Given the description of an element on the screen output the (x, y) to click on. 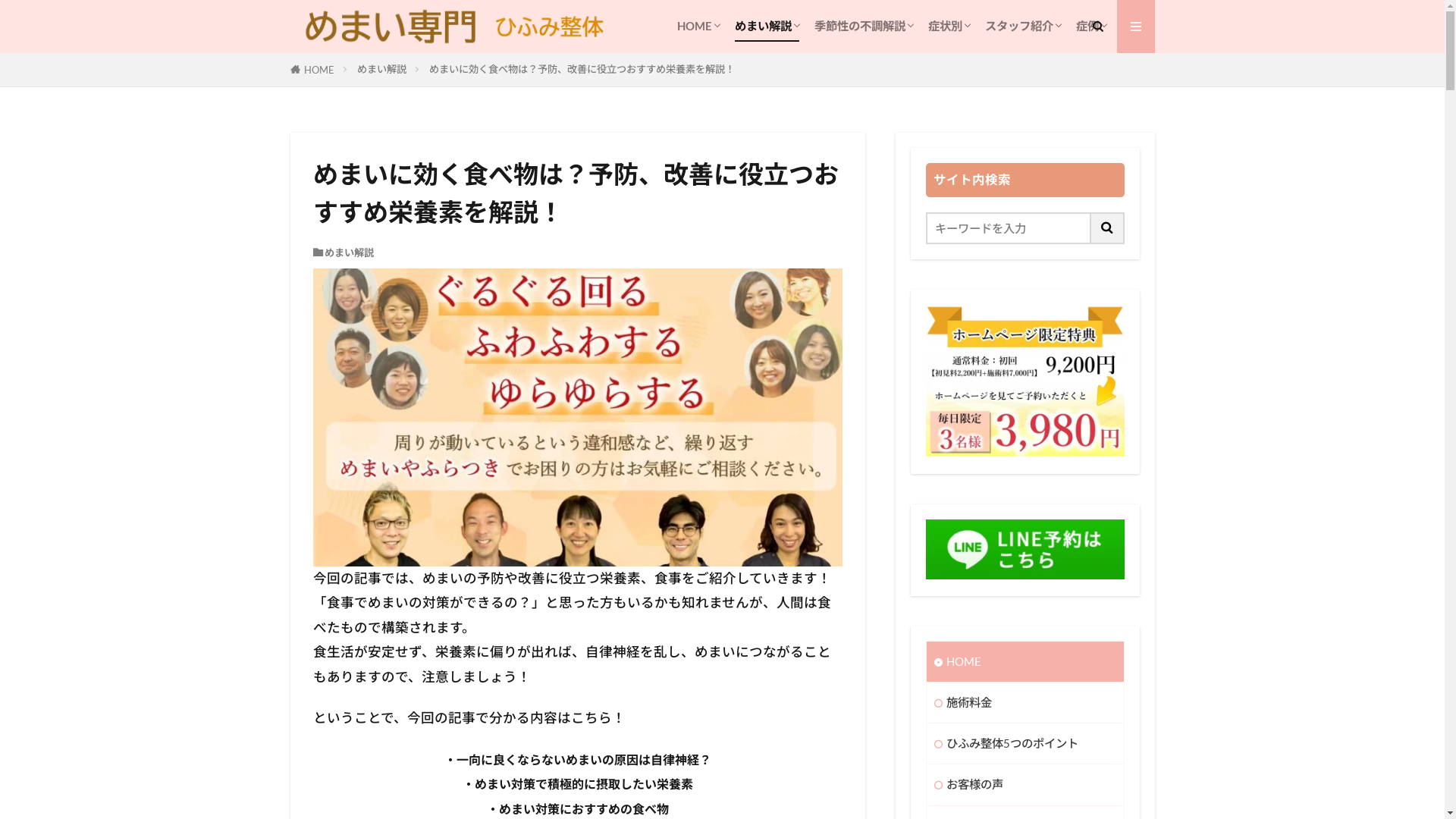
HOME Element type: text (318, 69)
HOME Element type: text (697, 25)
search Element type: text (716, 226)
HOME Element type: text (1024, 661)
search Element type: text (1106, 228)
